Given the description of an element on the screen output the (x, y) to click on. 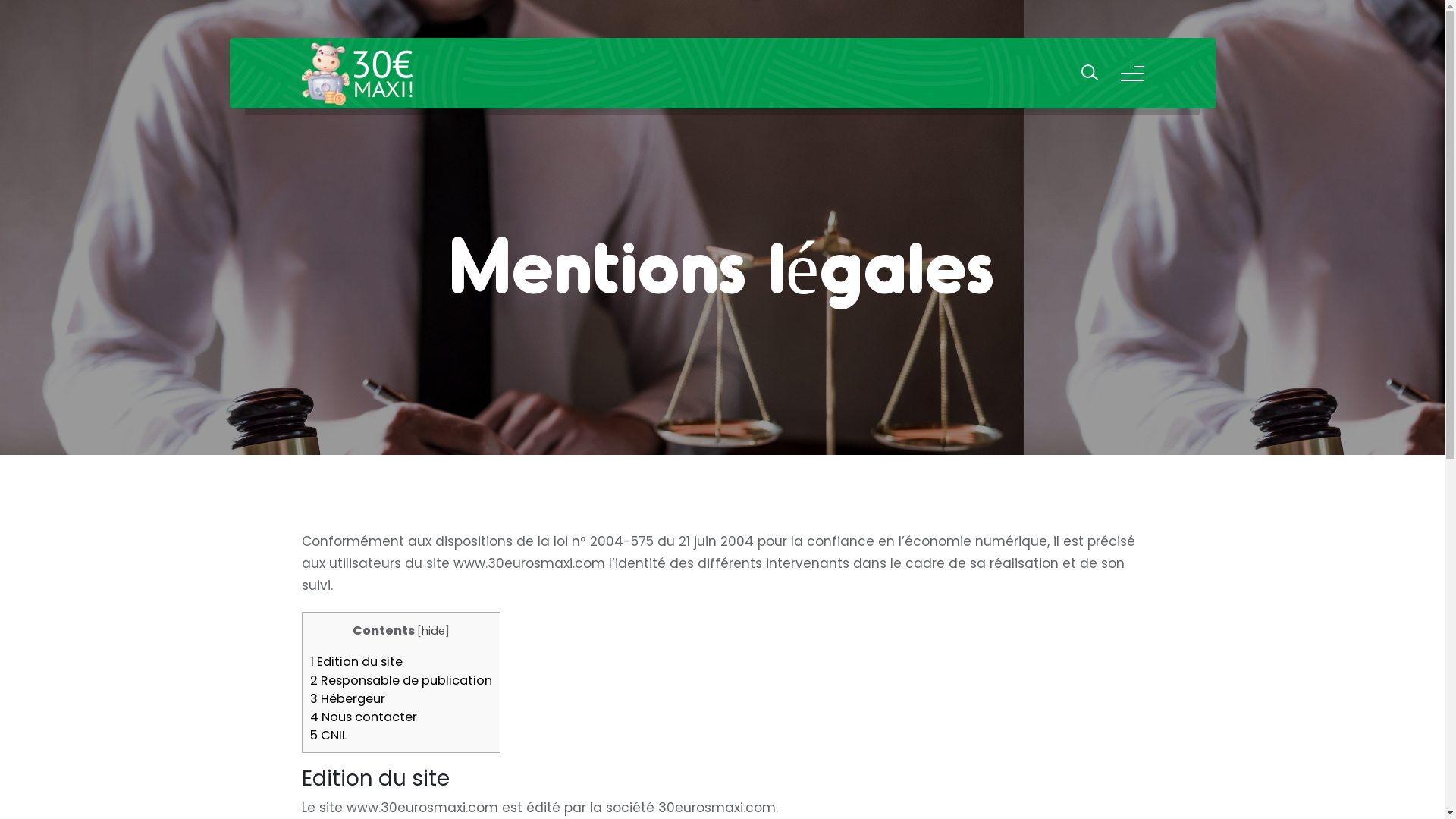
1 Edition du site Element type: text (355, 661)
4 Nous contacter Element type: text (362, 716)
hide Element type: text (433, 630)
5 CNIL Element type: text (327, 734)
2 Responsable de publication Element type: text (400, 680)
SEARCH Element type: text (721, 488)
